Given the description of an element on the screen output the (x, y) to click on. 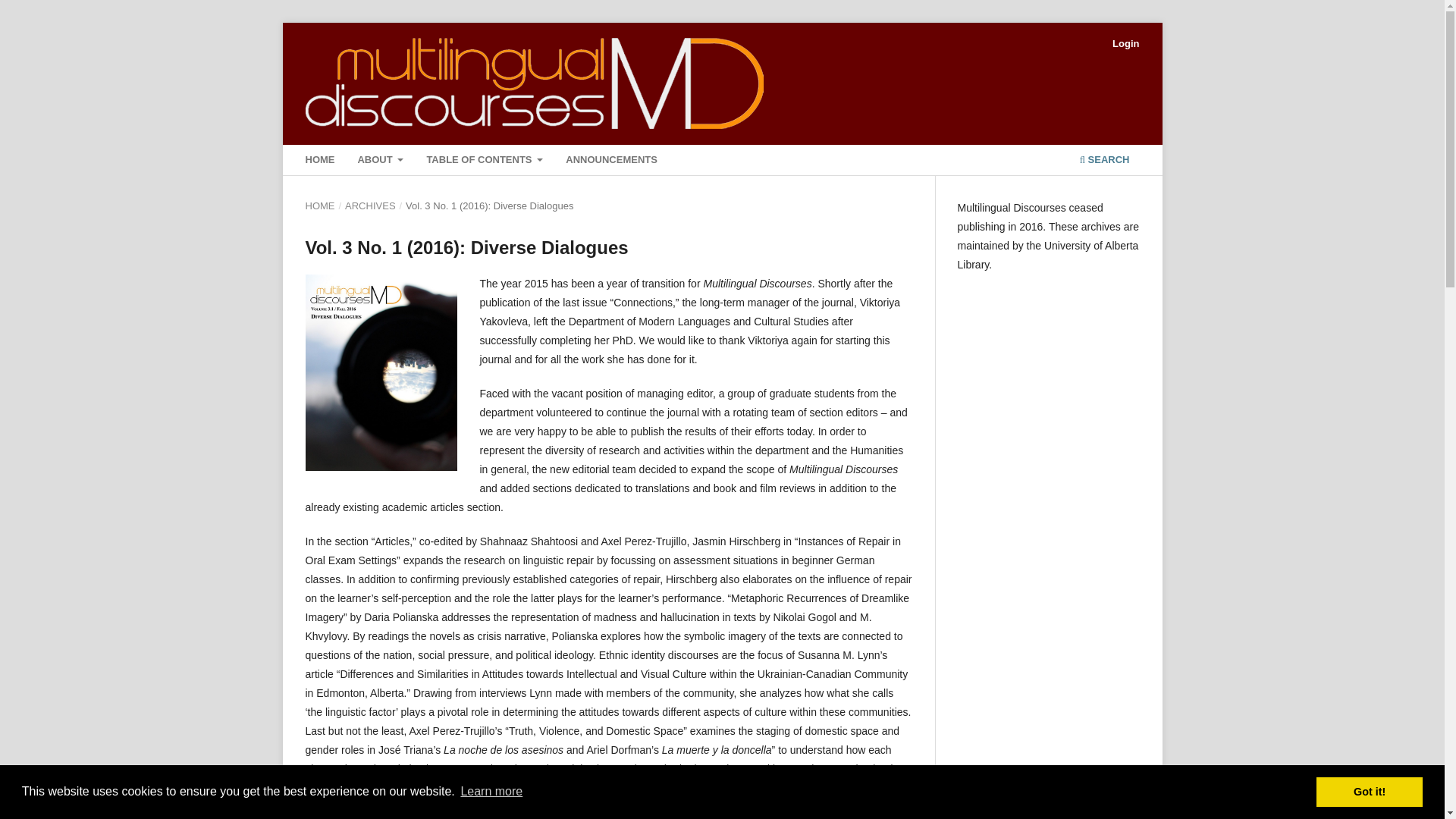
ARCHIVES (370, 206)
ABOUT (380, 161)
SEARCH (1104, 161)
ANNOUNCEMENTS (611, 161)
Learn more (491, 791)
HOME (319, 206)
TABLE OF CONTENTS (485, 161)
Got it! (1369, 791)
Login (1126, 43)
HOME (319, 161)
